Given the description of an element on the screen output the (x, y) to click on. 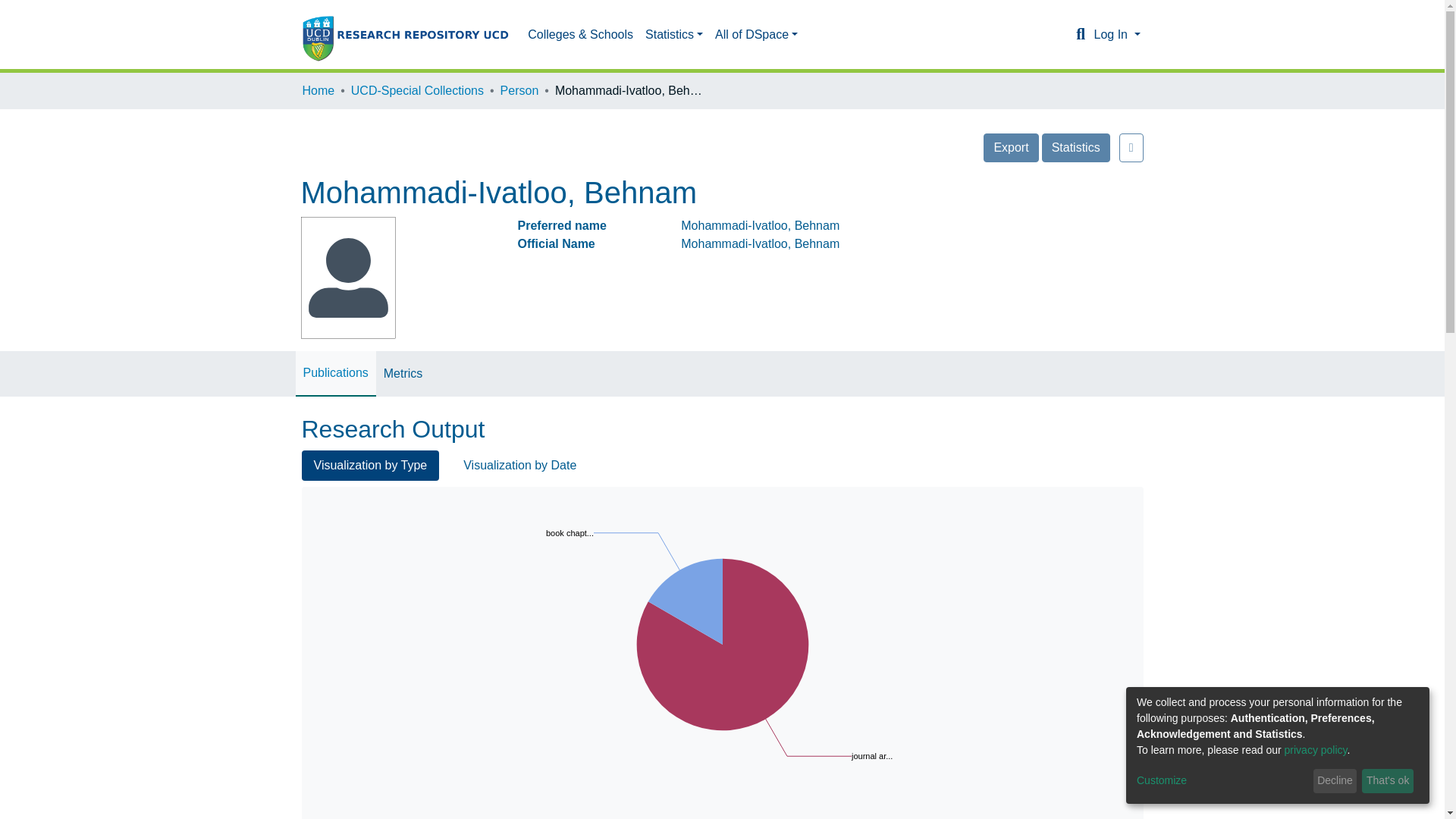
Statistics (519, 90)
Search (674, 34)
Export (1080, 34)
Visualization by Type (1011, 147)
Visualization by Date (370, 465)
All of DSpace (519, 465)
Publications (756, 34)
Log In (335, 372)
